Given the description of an element on the screen output the (x, y) to click on. 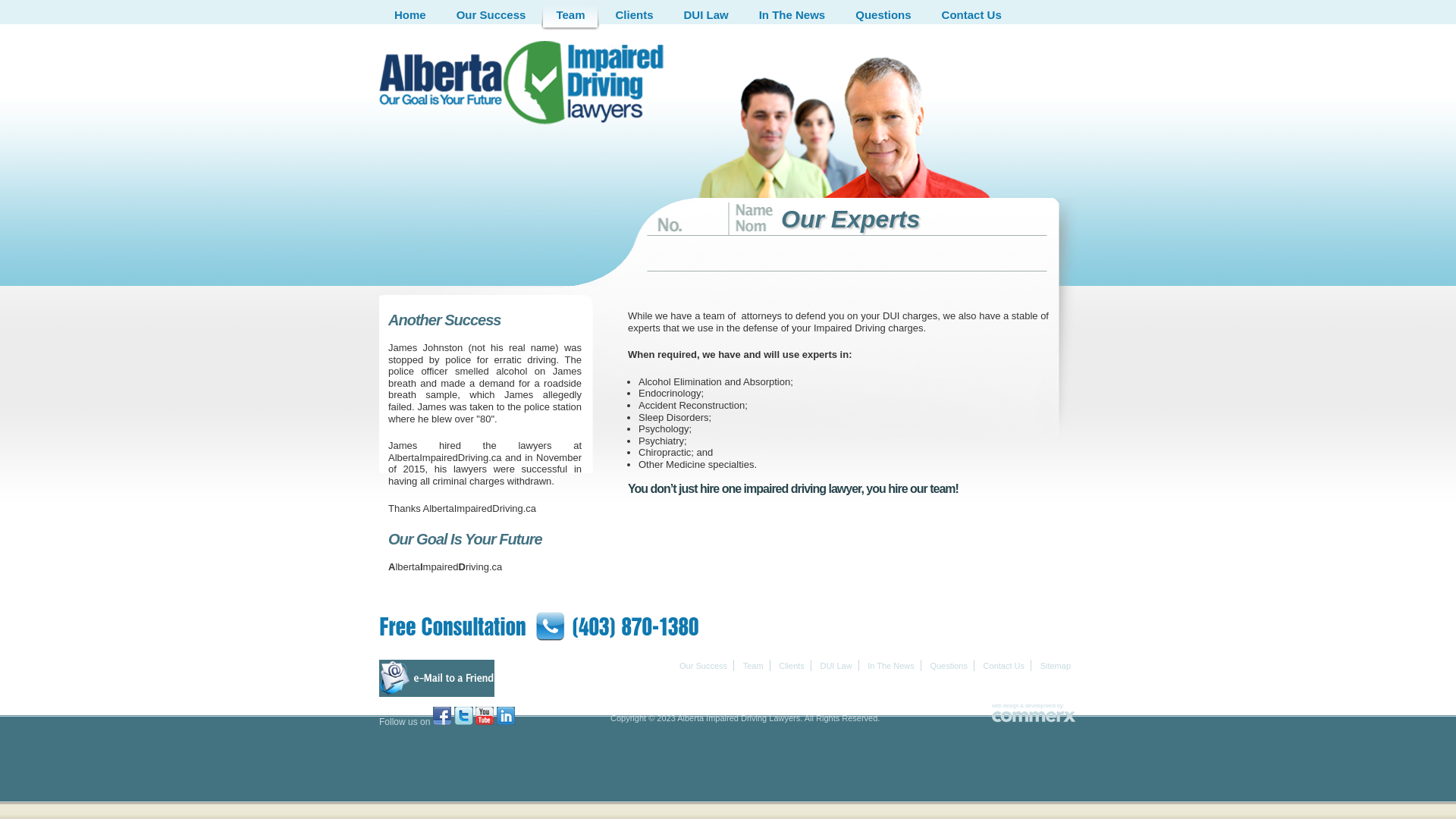
In The News Element type: text (890, 665)
Our Success Element type: text (703, 665)
Questions Element type: text (882, 15)
Commerx Corporation:Complete Internet Solutions Element type: hover (1033, 716)
Team Element type: text (753, 665)
Questions Element type: text (948, 665)
In The News Element type: text (791, 15)
Clients Element type: text (633, 15)
DUI Law Element type: text (705, 15)
Team Element type: text (569, 15)
Contact Us Element type: text (971, 15)
web design & development by: Element type: text (1027, 705)
Our Success Element type: text (491, 15)
Sitemap Element type: text (1055, 665)
Clients Element type: text (791, 665)
Contact Us Element type: text (1003, 665)
DUI Law Element type: text (835, 665)
Home Element type: text (410, 15)
